Given the description of an element on the screen output the (x, y) to click on. 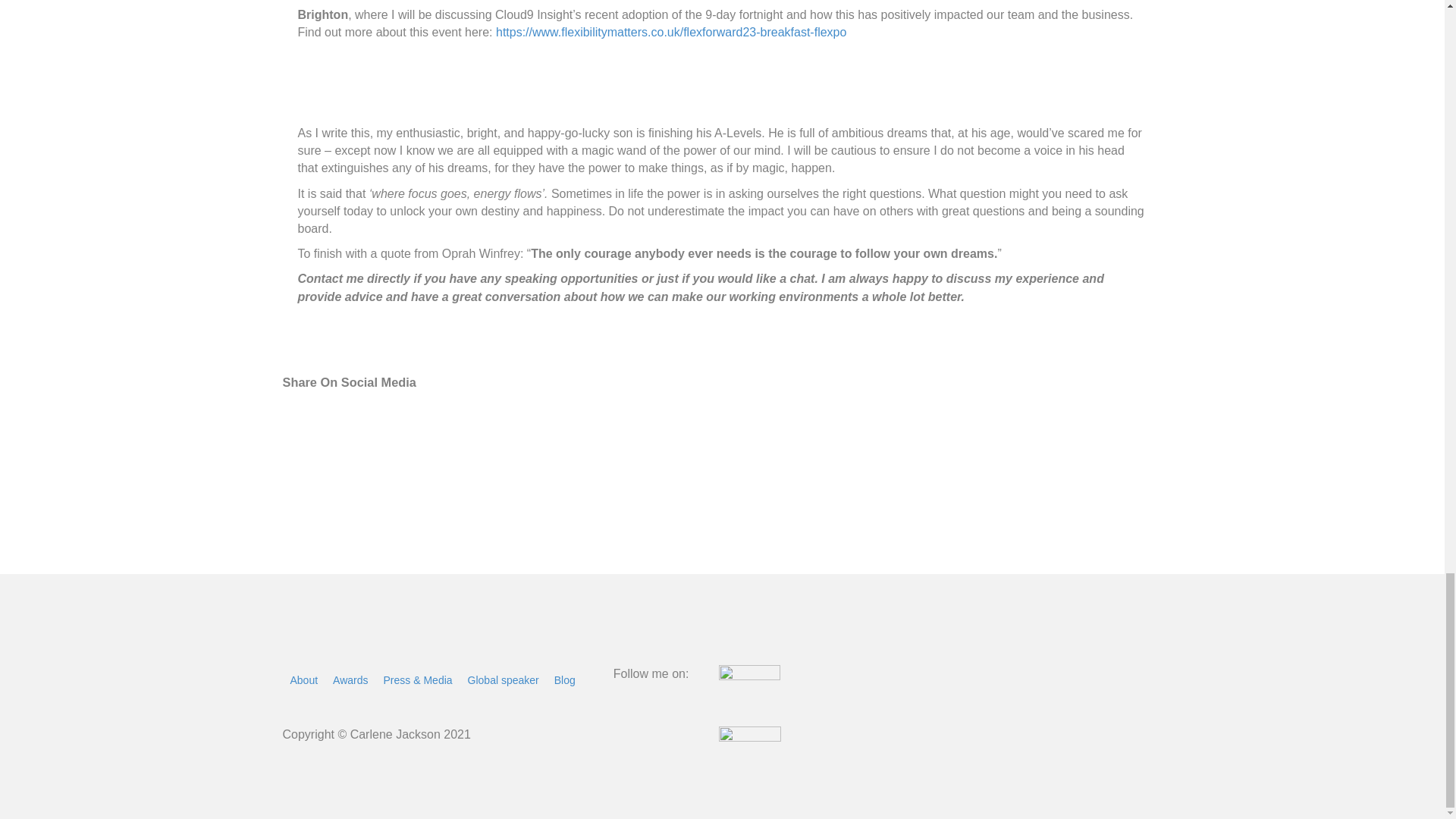
Global speaker (503, 680)
SocialmediaIcons-05 (749, 707)
About (303, 680)
Awards (349, 680)
linkedin-04 (749, 769)
Blog (565, 680)
